Given the description of an element on the screen output the (x, y) to click on. 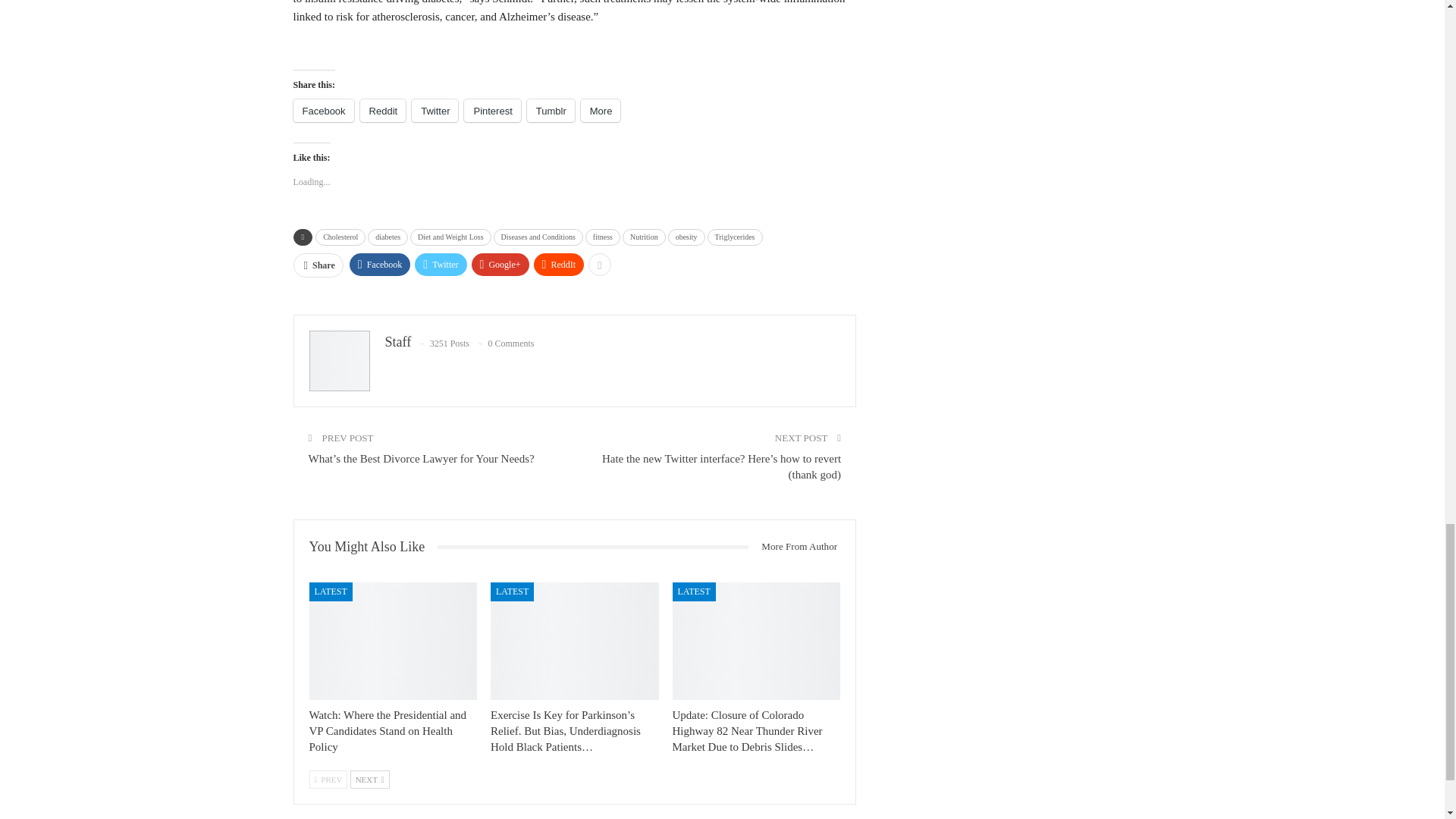
Tumblr (551, 110)
More (600, 110)
Facebook (322, 110)
Twitter (435, 110)
Click to share on Pinterest (491, 110)
Pinterest (491, 110)
Click to share on Twitter (435, 110)
Cholesterol (340, 237)
Click to share on Tumblr (551, 110)
